Given the description of an element on the screen output the (x, y) to click on. 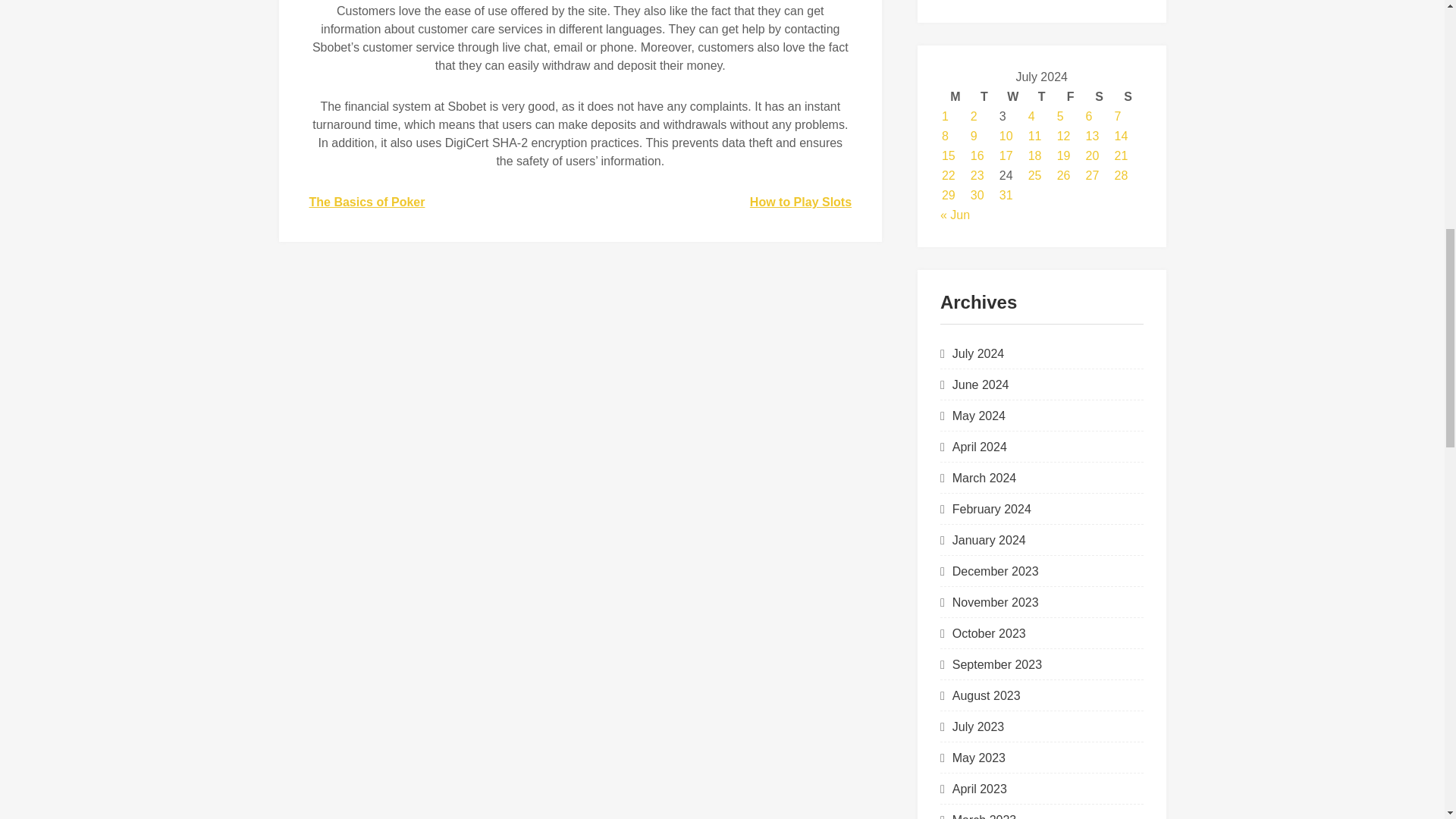
21 (1121, 155)
Tuesday (984, 96)
20 (1092, 155)
15 (948, 155)
Saturday (1099, 96)
How to Play Slots (800, 201)
Sunday (1128, 96)
10 (1005, 135)
Thursday (1041, 96)
18 (1034, 155)
Wednesday (1012, 96)
19 (1063, 155)
17 (1005, 155)
16 (977, 155)
14 (1121, 135)
